Given the description of an element on the screen output the (x, y) to click on. 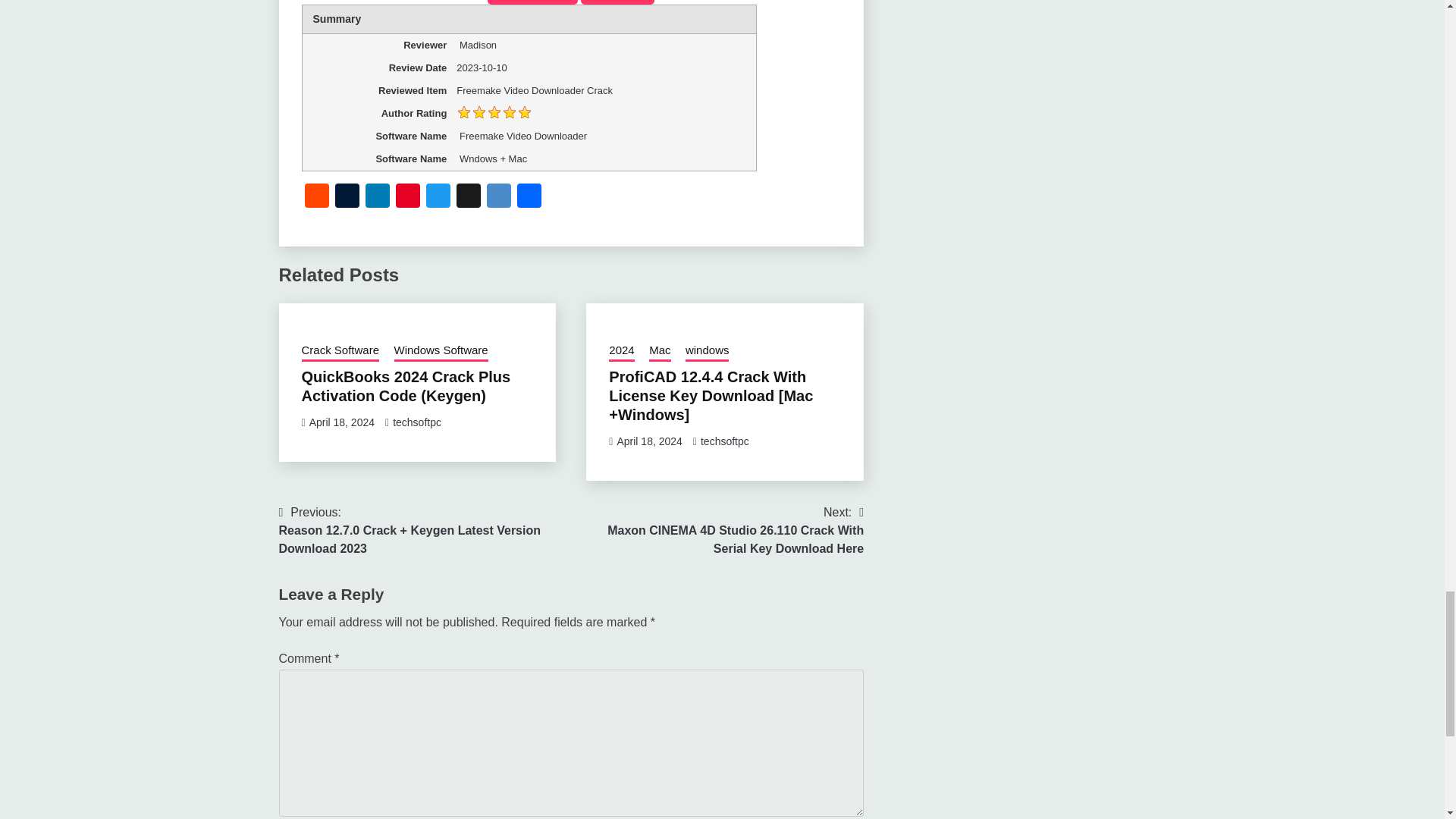
Tumblr (346, 197)
Twitter (437, 197)
Pinterest (408, 197)
Crack Only (616, 2)
LinkedIn (377, 197)
Diigo (498, 197)
Windows Software (440, 351)
LinkedIn (377, 197)
Twitter (437, 197)
April 18, 2024 (341, 422)
